Given the description of an element on the screen output the (x, y) to click on. 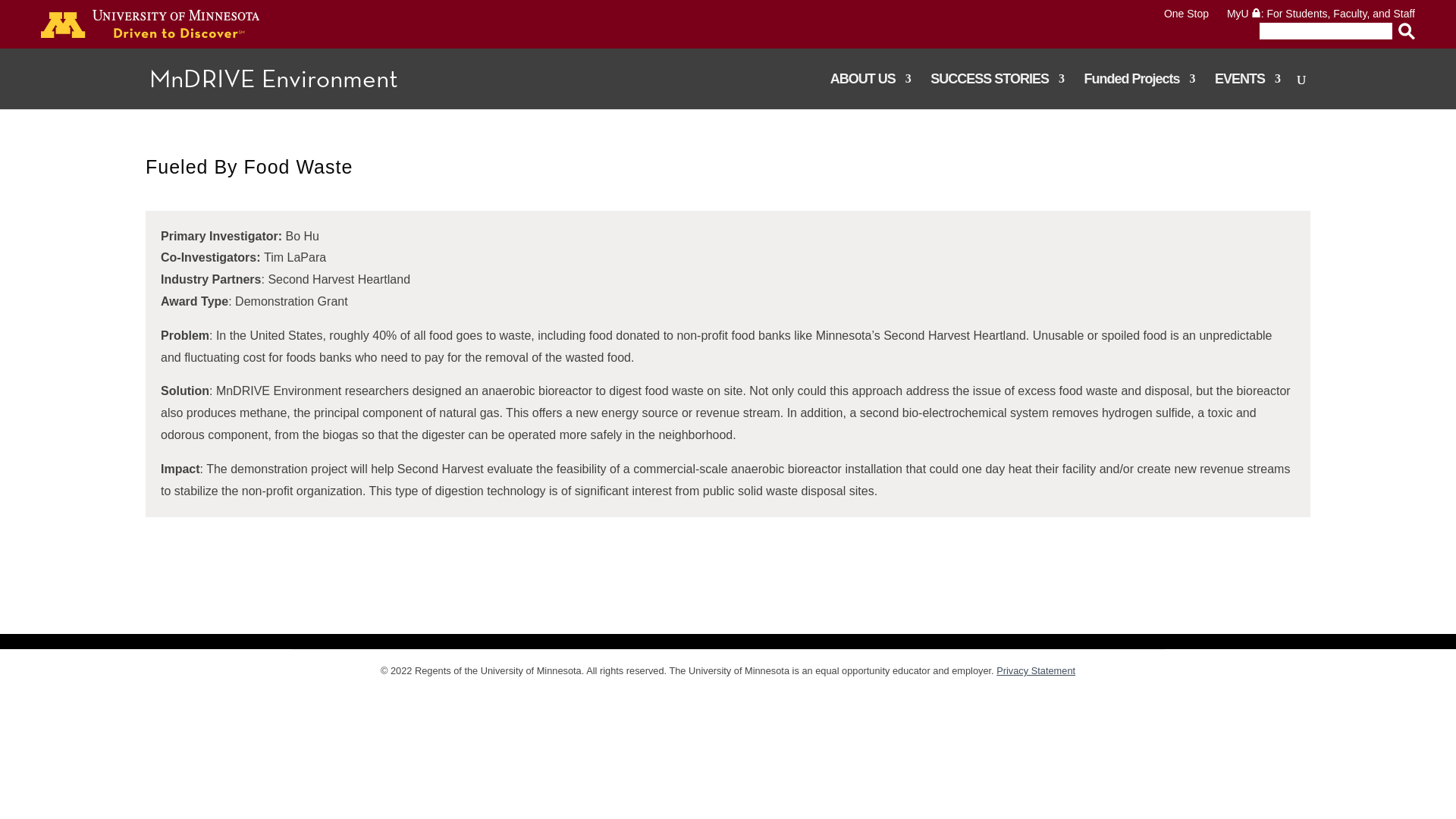
One Stop (1185, 13)
MyU : For Students, Faculty, and Staff (1321, 13)
Funded Projects (1138, 90)
ABOUT US (870, 90)
EVENTS (1246, 90)
SUCCESS STORIES (997, 90)
Search Websites and People (1320, 30)
